Given the description of an element on the screen output the (x, y) to click on. 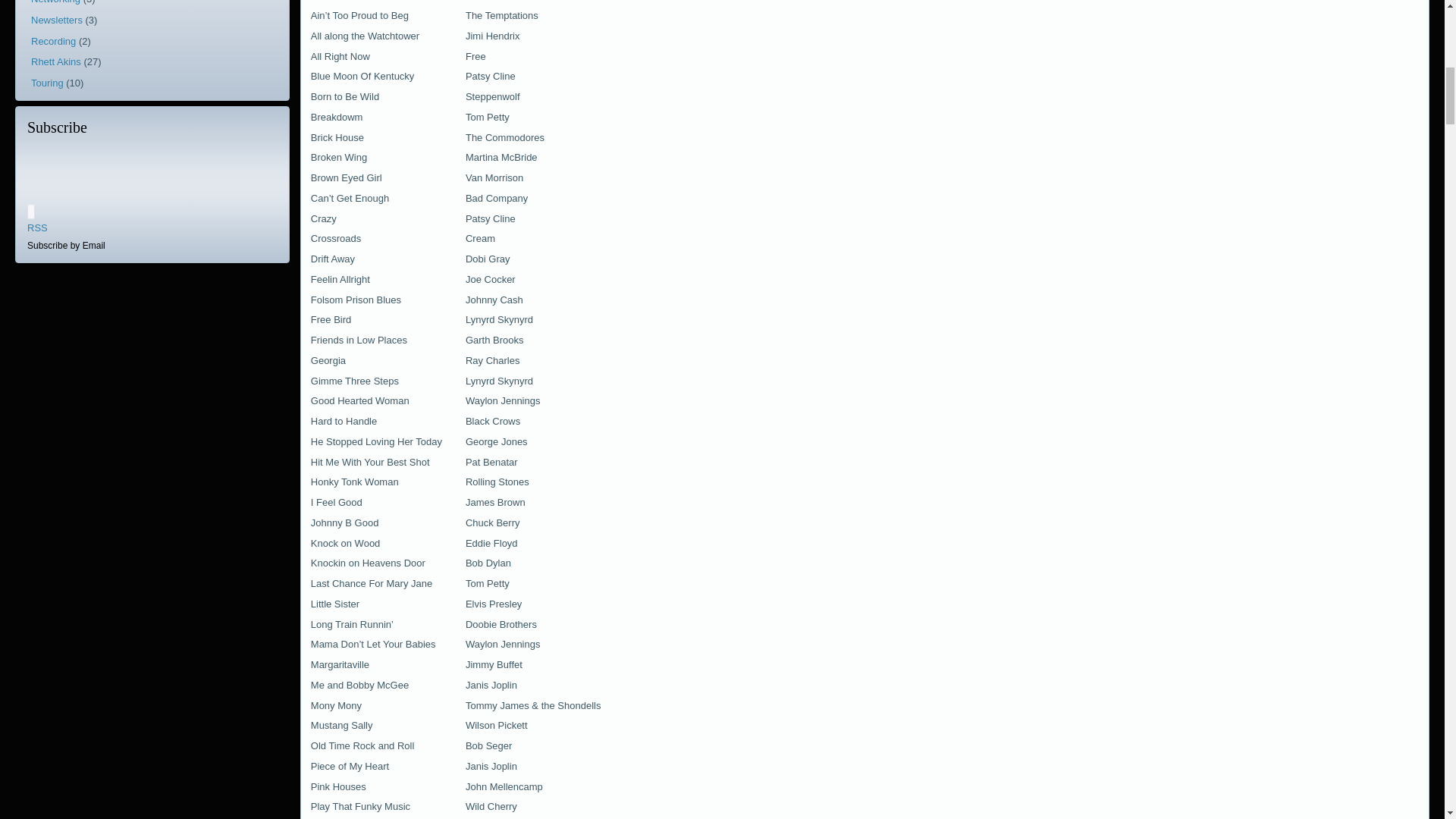
Networking (55, 2)
RSS (37, 227)
Rhett Akins (55, 61)
Recording (52, 41)
Newsletters (56, 19)
Subscribe by Email (65, 244)
Subscribe to my feed (37, 227)
Touring (47, 82)
